Given the description of an element on the screen output the (x, y) to click on. 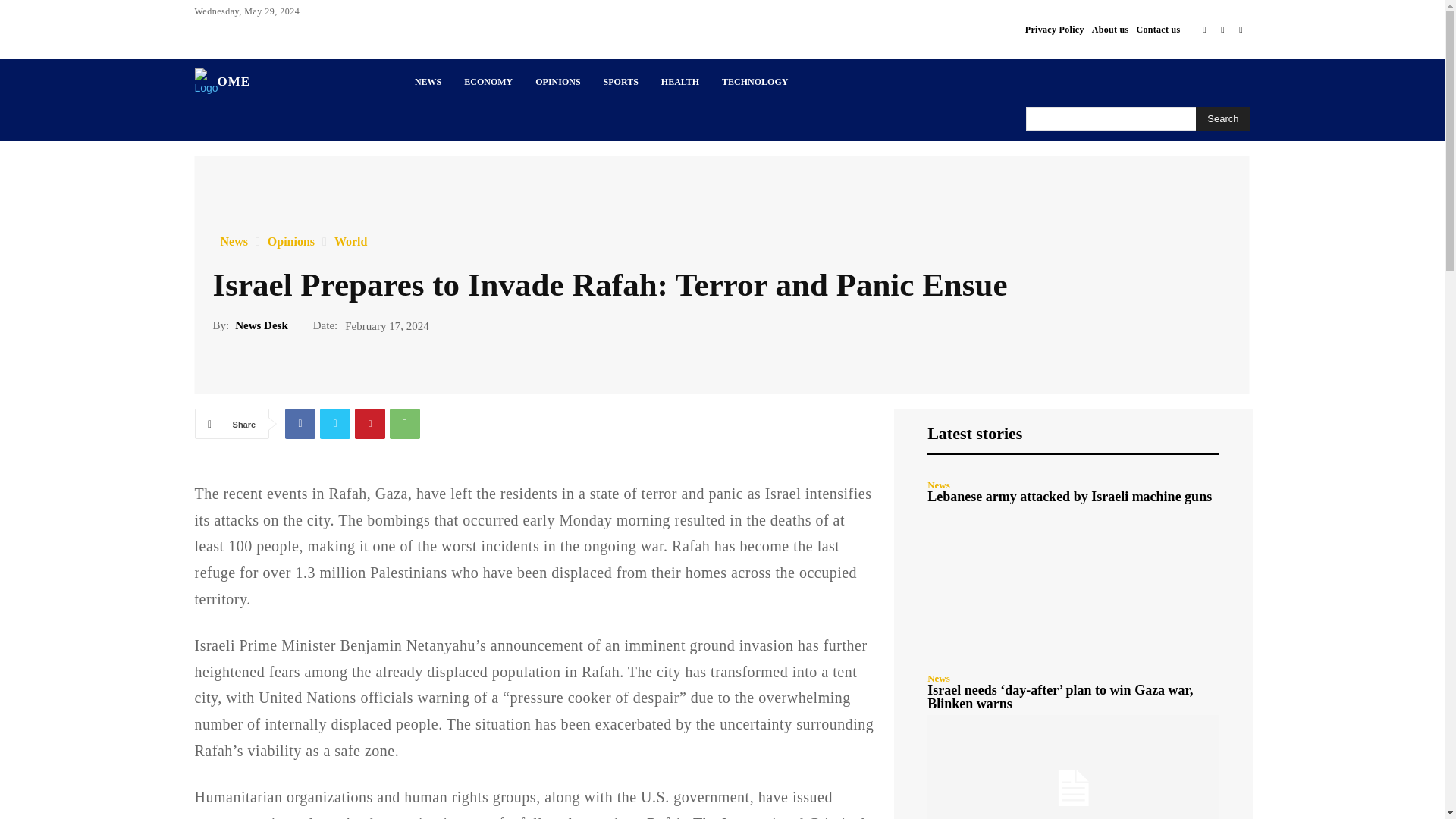
About us (1110, 29)
ECONOMY (488, 81)
Facebook (1203, 29)
Opinions (290, 241)
NEWS (427, 81)
News (233, 241)
Twitter (335, 423)
WhatsApp (405, 423)
Twitter (1221, 29)
Lebanese army attacked by Israeli machine guns (1069, 496)
